Given the description of an element on the screen output the (x, y) to click on. 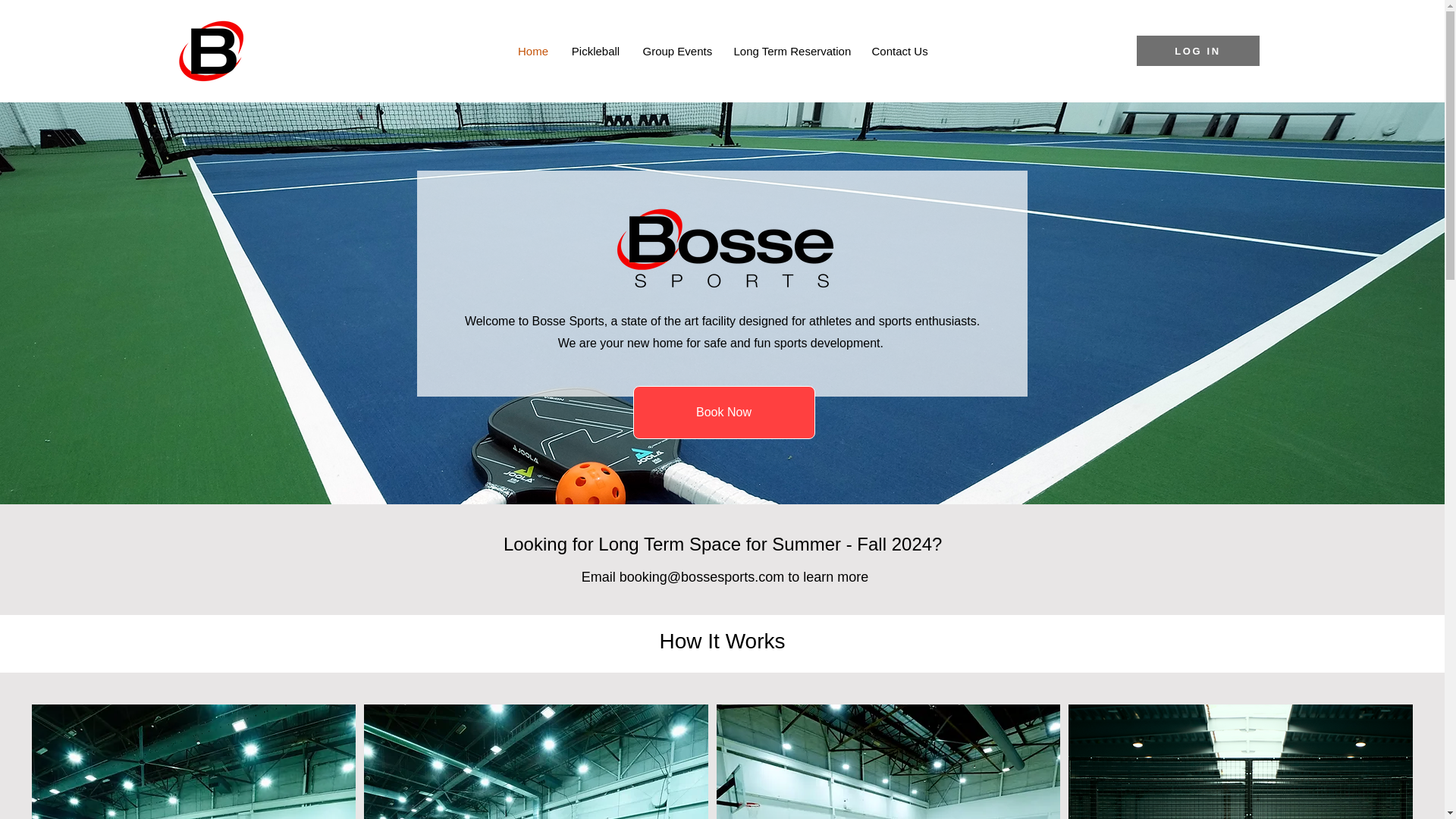
Contact Us (898, 50)
Book Now (722, 411)
Group Events (676, 50)
LOG IN (1197, 51)
Pickleball (594, 50)
Long Term Reservation (791, 50)
Home (533, 50)
